Given the description of an element on the screen output the (x, y) to click on. 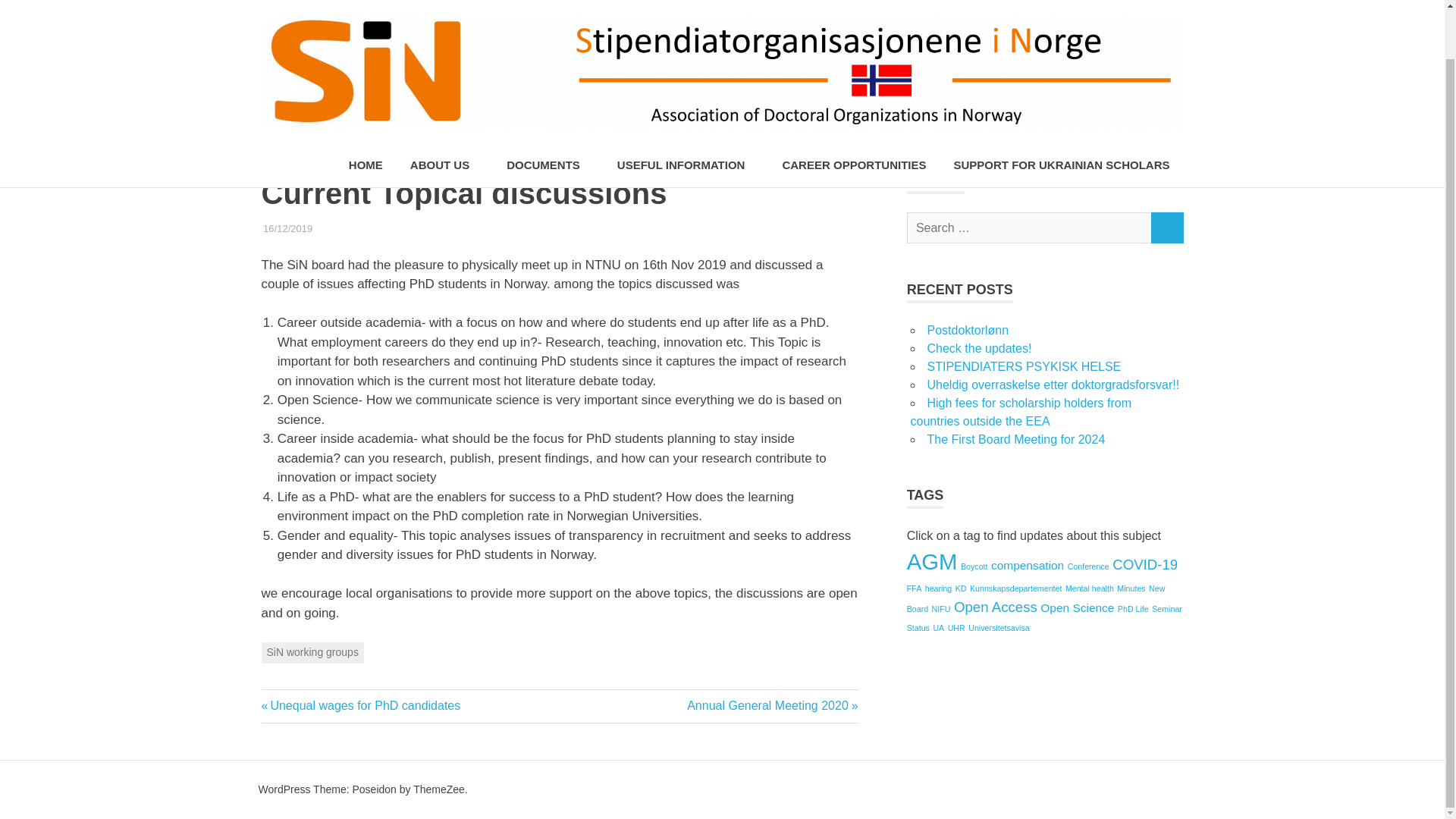
HOME (365, 112)
DOCUMENTS (548, 112)
12:16 (288, 228)
CAREER OPPORTUNITIES (853, 112)
SUPPORT FOR UKRAINIAN SCHOLARS (1060, 112)
Search for: (1029, 227)
NEWS (421, 228)
SIN (450, 228)
View all posts by 185215914561974 (353, 228)
USEFUL INFORMATION (686, 112)
185215914561974 (353, 228)
ABOUT US (444, 112)
BOARD MEETINGS (357, 228)
